Given the description of an element on the screen output the (x, y) to click on. 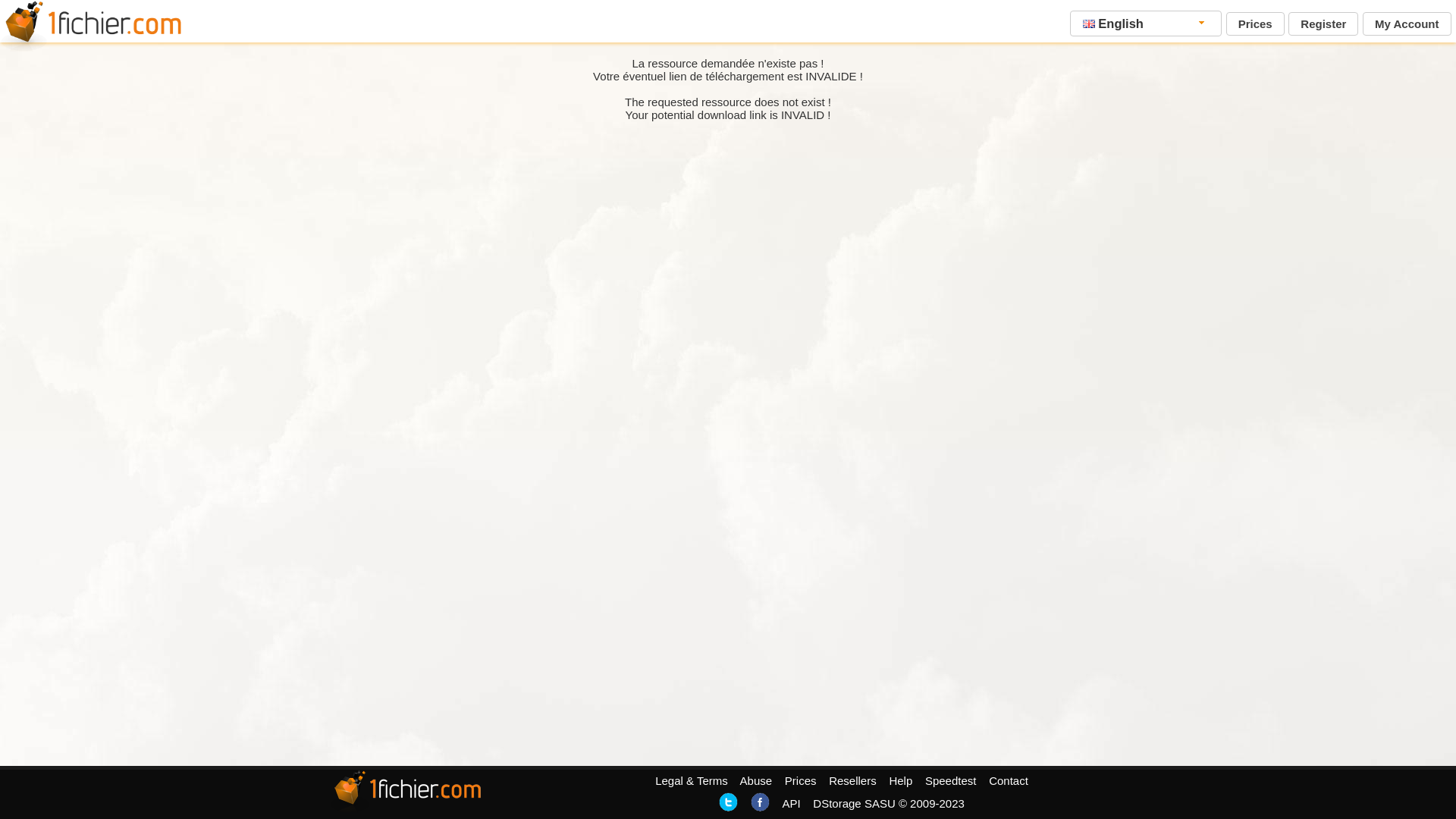
Register Element type: text (1323, 23)
Contact Element type: text (1008, 780)
Prices Element type: text (1255, 23)
Resellers Element type: text (852, 780)
My Account Element type: text (1406, 23)
Legal & Terms Element type: text (691, 780)
Abuse Element type: text (756, 780)
Help Element type: text (900, 780)
API Element type: text (790, 803)
Speedtest Element type: text (950, 780)
Prices Element type: text (800, 780)
